Given the description of an element on the screen output the (x, y) to click on. 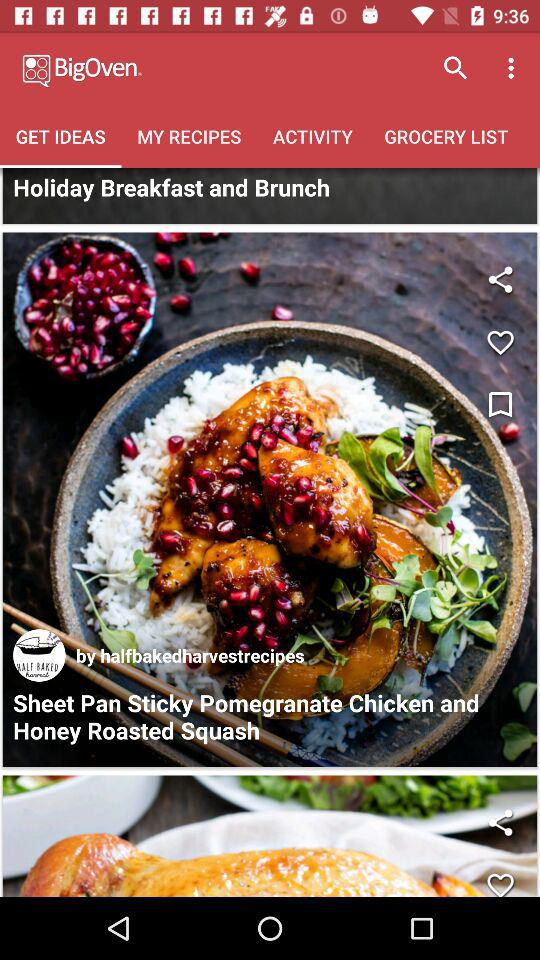
leave a like (500, 342)
